Given the description of an element on the screen output the (x, y) to click on. 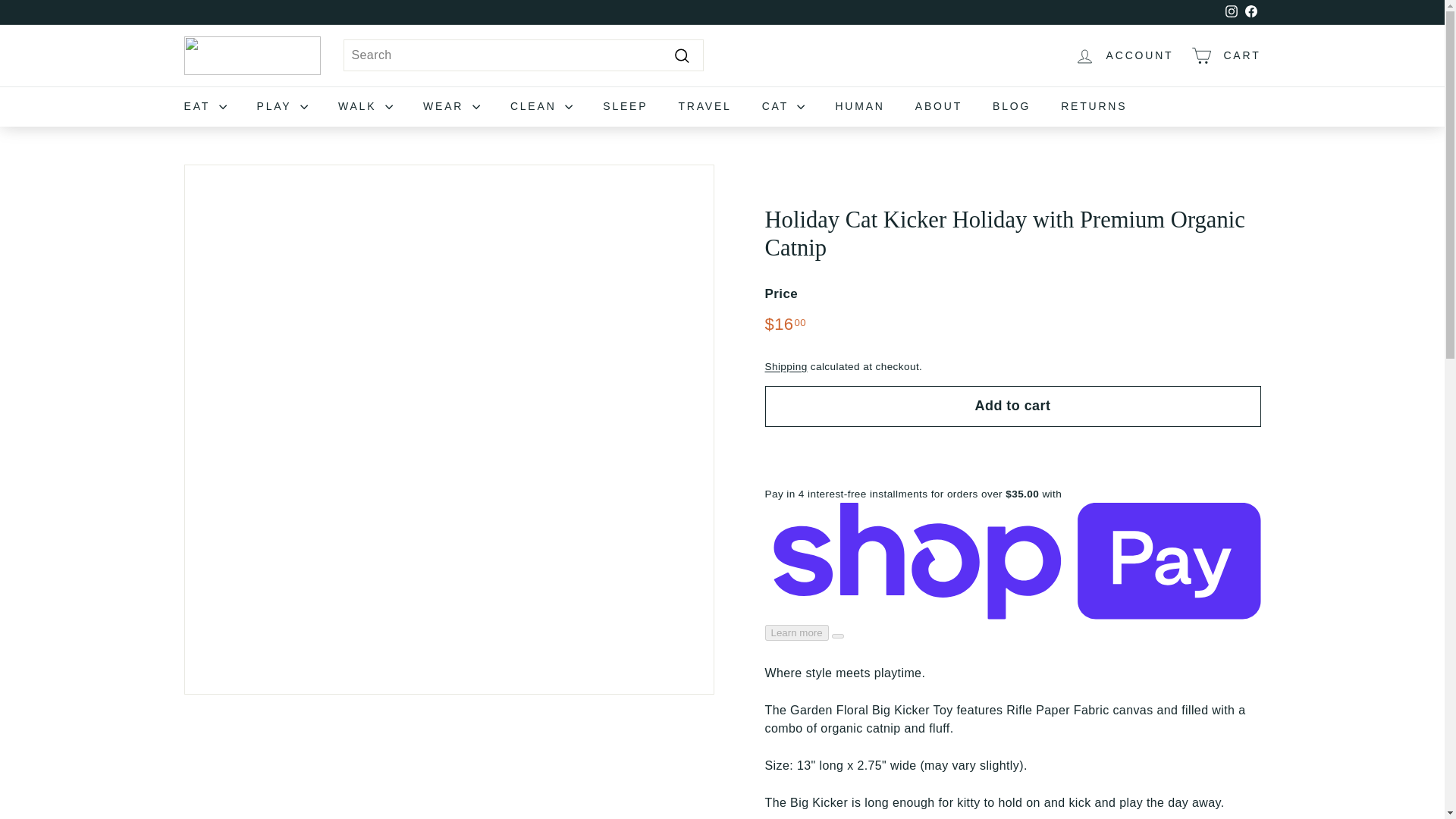
ACCOUNT (1123, 55)
instagram (1230, 11)
CART (1231, 10)
Toiffer Pet Outfitter on Instagram (1225, 55)
Toiffer Pet Outfitter on Facebook (1230, 11)
Facebook (1250, 11)
